Given the description of an element on the screen output the (x, y) to click on. 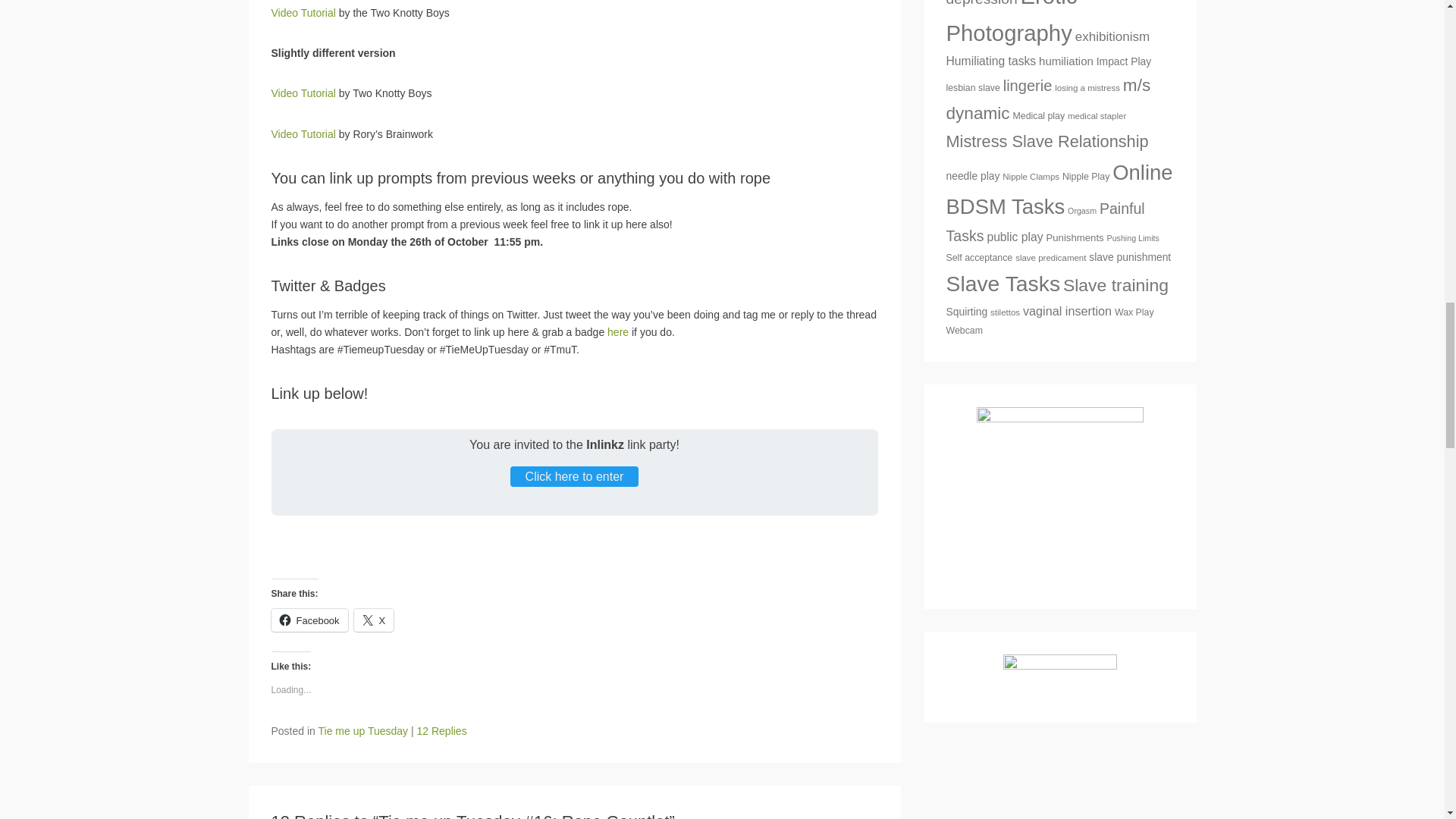
Video Tutorial (303, 133)
12 Replies (440, 730)
Video Tutorial (303, 92)
Facebook (308, 619)
Video Tutorial (303, 12)
Click to share on X (373, 619)
Tie me up Tuesday (363, 730)
Click here to enter (575, 476)
here (617, 331)
Click to share on Facebook (308, 619)
